Given the description of an element on the screen output the (x, y) to click on. 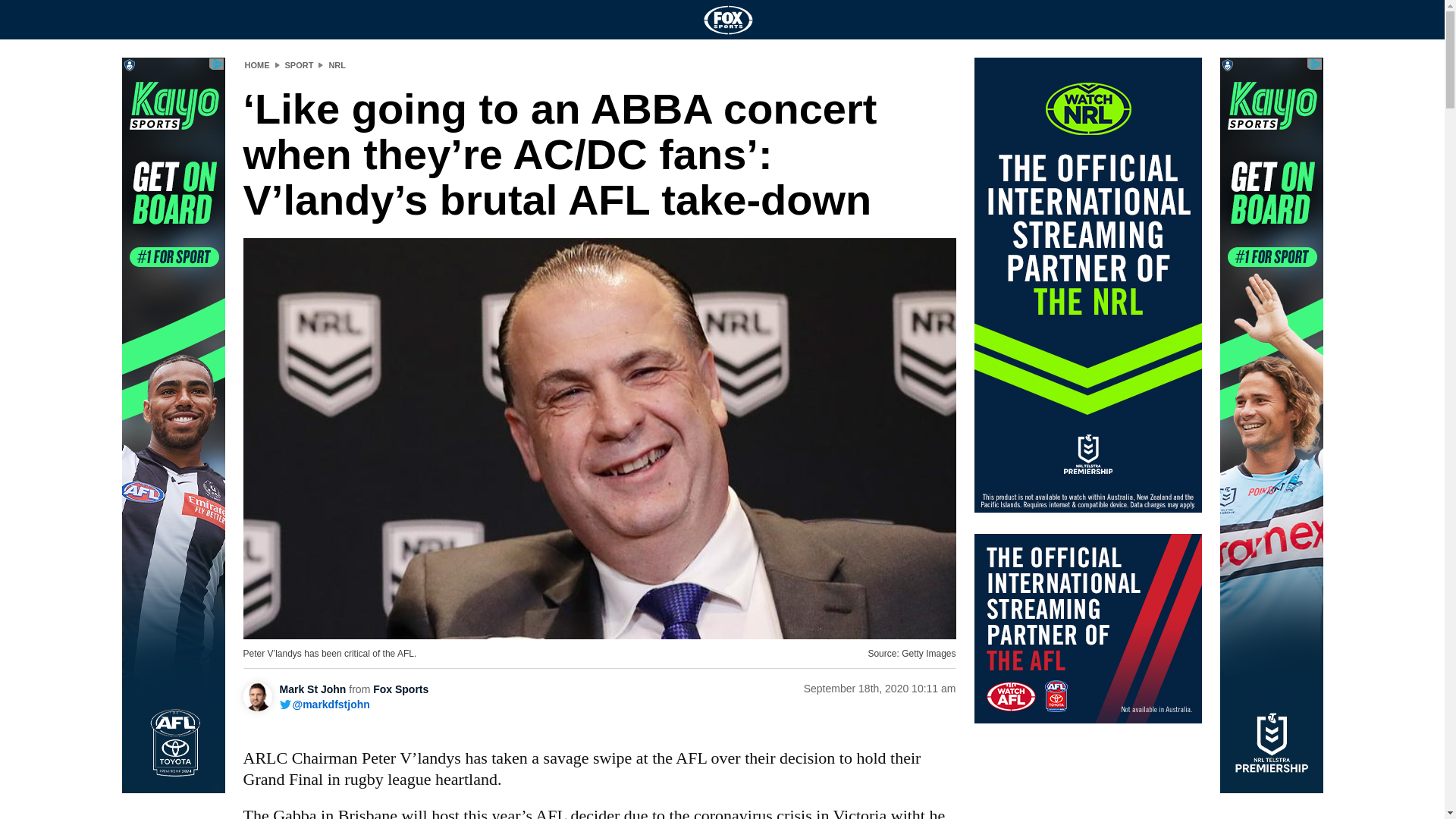
NRL (336, 64)
SPORT (299, 64)
HOME (256, 64)
3rd party ad content (1087, 628)
